Given the description of an element on the screen output the (x, y) to click on. 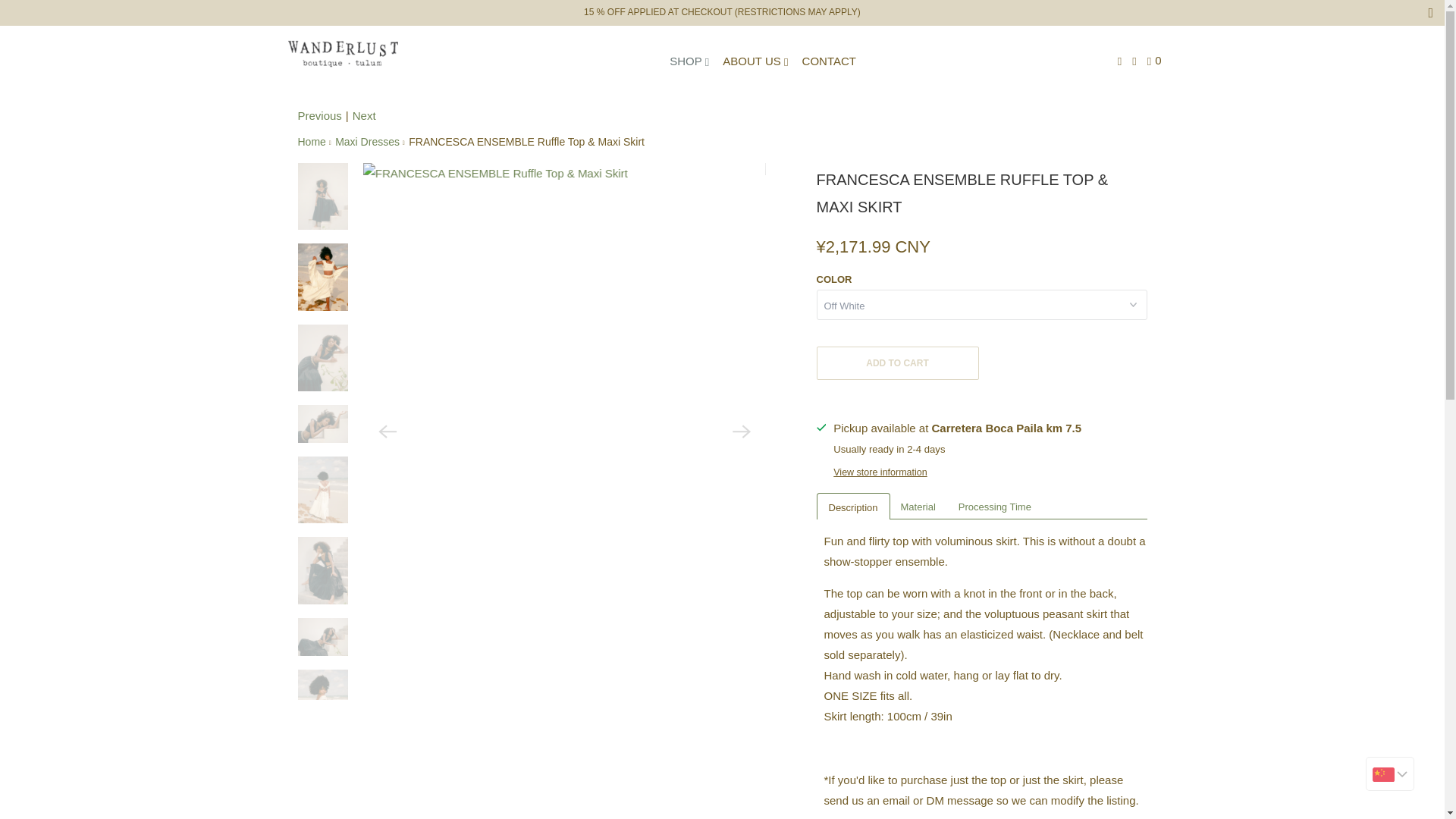
Wanderlustulum (310, 141)
Maxi Dresses (366, 141)
Wanderlustulum (342, 53)
Previous (318, 115)
Next (363, 115)
